Given the description of an element on the screen output the (x, y) to click on. 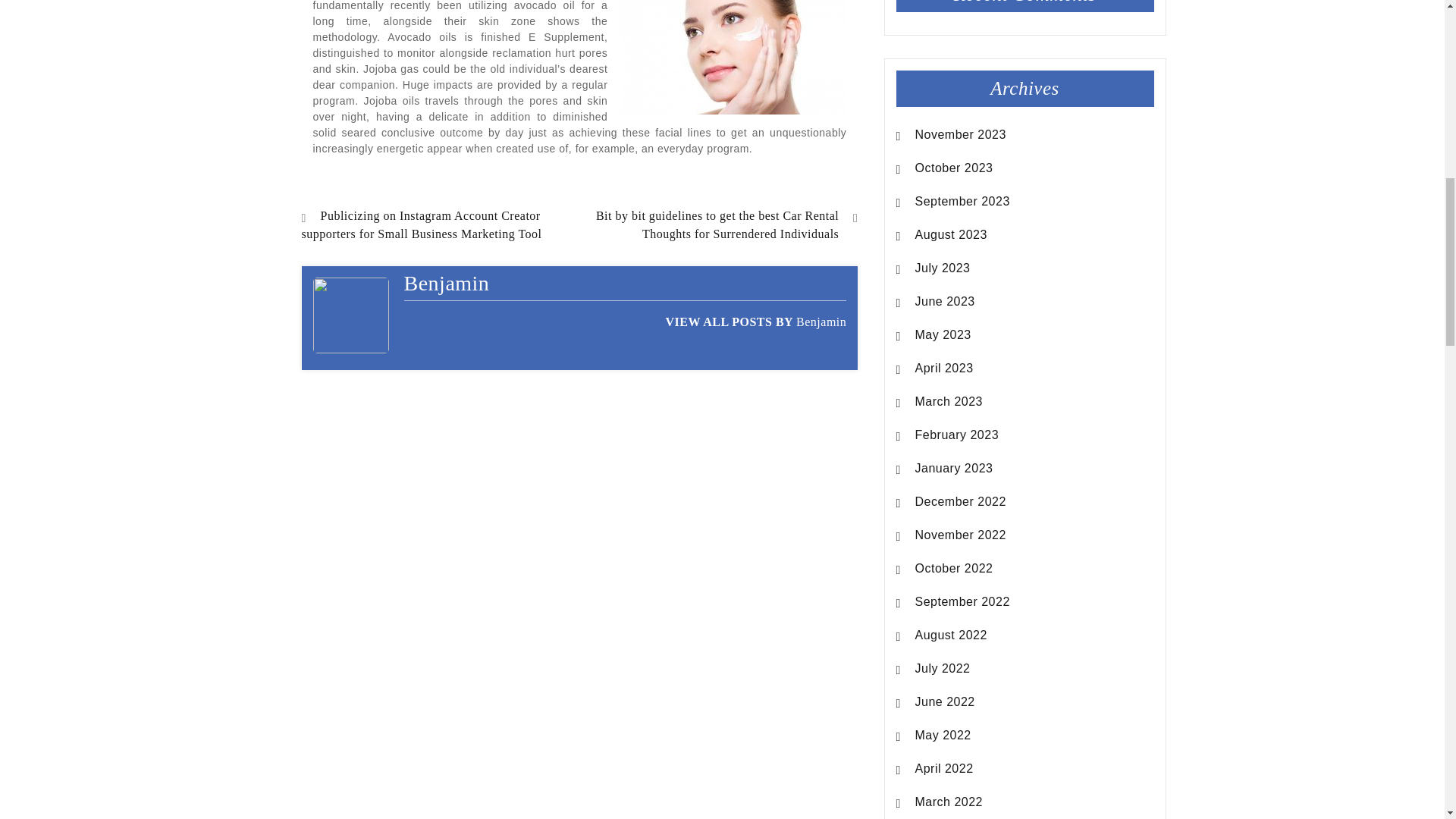
December 2022 (960, 502)
March 2022 (949, 802)
September 2023 (962, 201)
May 2022 (943, 735)
June 2022 (945, 701)
July 2022 (943, 669)
September 2022 (962, 601)
August 2023 (951, 235)
October 2023 (953, 167)
Benjamin (820, 321)
November 2022 (960, 535)
August 2022 (951, 635)
July 2023 (943, 268)
April 2023 (944, 368)
